Given the description of an element on the screen output the (x, y) to click on. 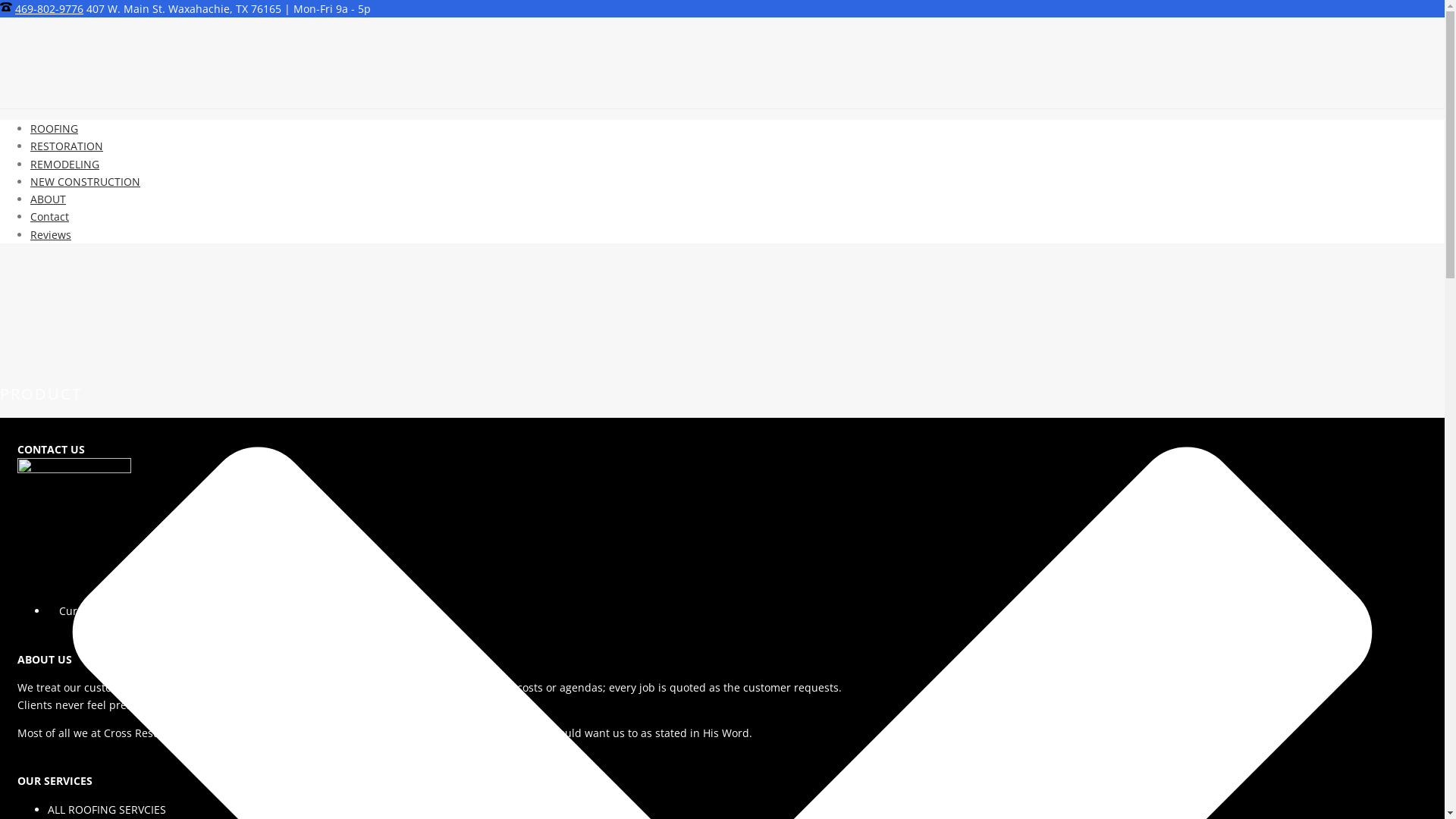
REMODELING Element type: text (64, 163)
NEW CONSTRUCTION Element type: text (85, 181)
ABOUT Element type: text (47, 198)
RESTORATION Element type: text (66, 145)
ROOFING Element type: text (54, 128)
469-802-9776 Element type: text (49, 8)
Reviews Element type: text (50, 234)
Contact Element type: text (49, 216)
